Given the description of an element on the screen output the (x, y) to click on. 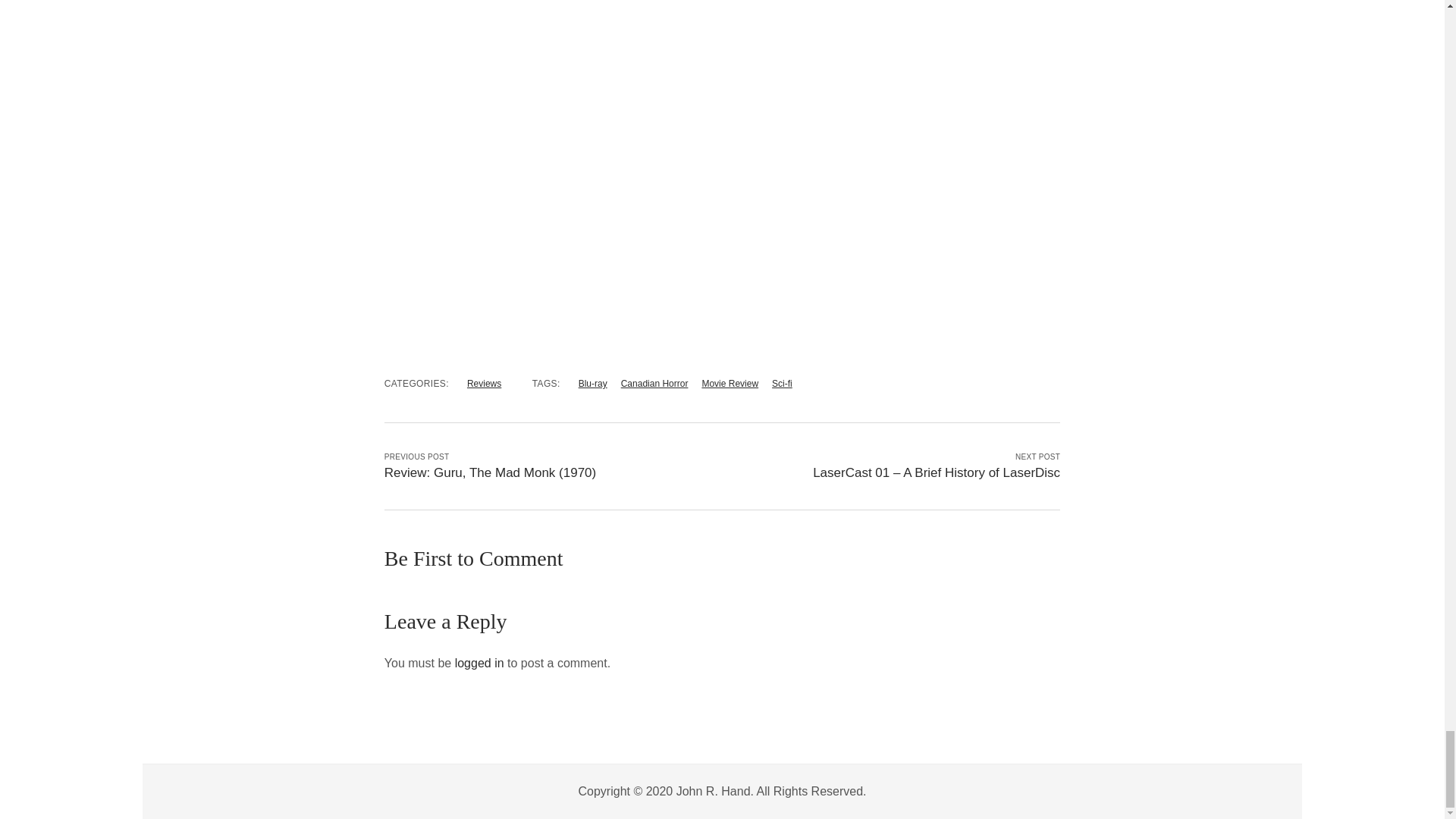
View all posts tagged Movie Review (729, 383)
View all posts in Reviews (483, 383)
Sci-fi (781, 383)
View all posts tagged Canadian Horror (654, 383)
Reviews (483, 383)
Blu-ray (592, 383)
Movie Review (729, 383)
logged in (478, 662)
View all posts tagged Sci-fi (781, 383)
Canadian Horror (654, 383)
View all posts tagged Blu-ray (592, 383)
